Given the description of an element on the screen output the (x, y) to click on. 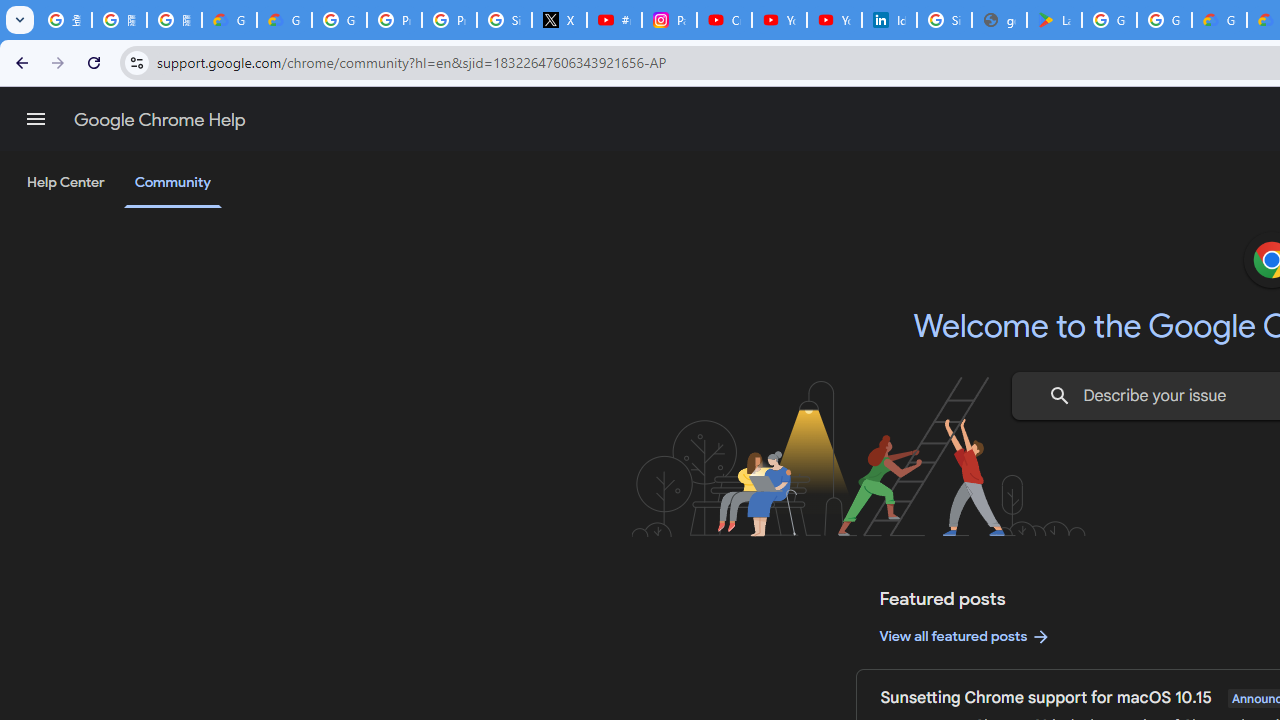
Google Cloud Privacy Notice (229, 20)
View all featured posts (965, 636)
Government | Google Cloud (1218, 20)
